Given the description of an element on the screen output the (x, y) to click on. 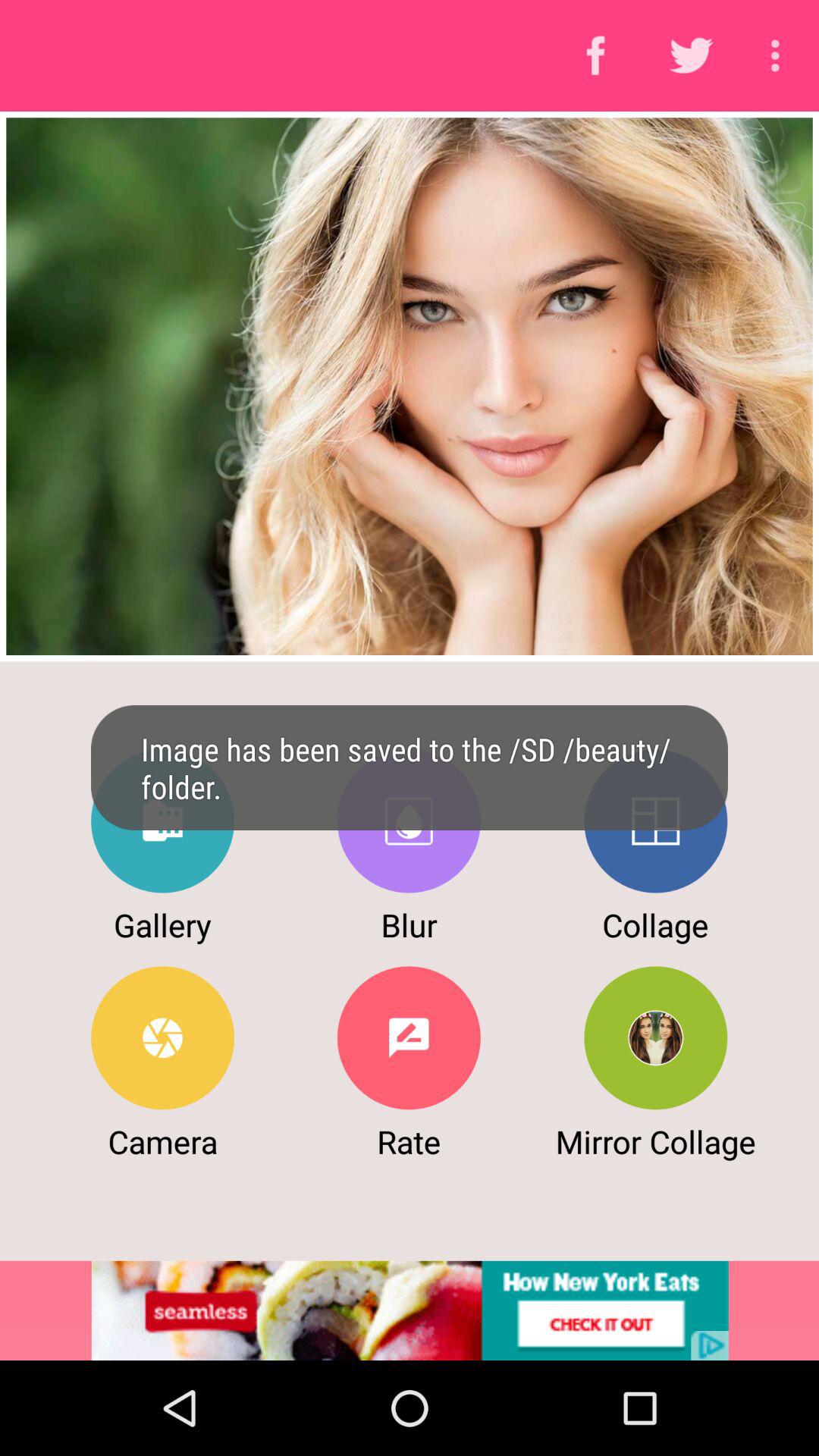
camera (162, 1037)
